Given the description of an element on the screen output the (x, y) to click on. 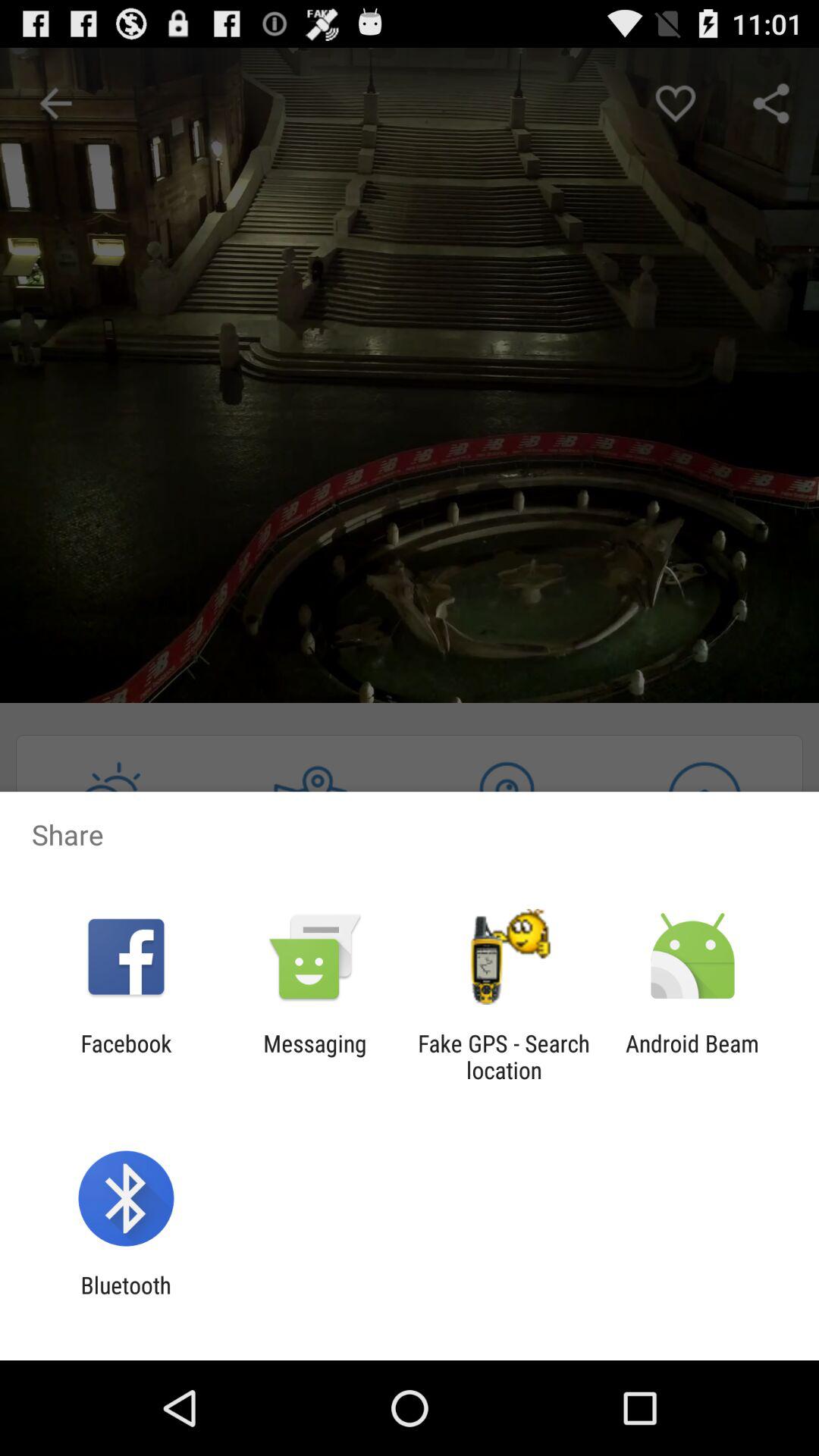
select android beam icon (692, 1056)
